Given the description of an element on the screen output the (x, y) to click on. 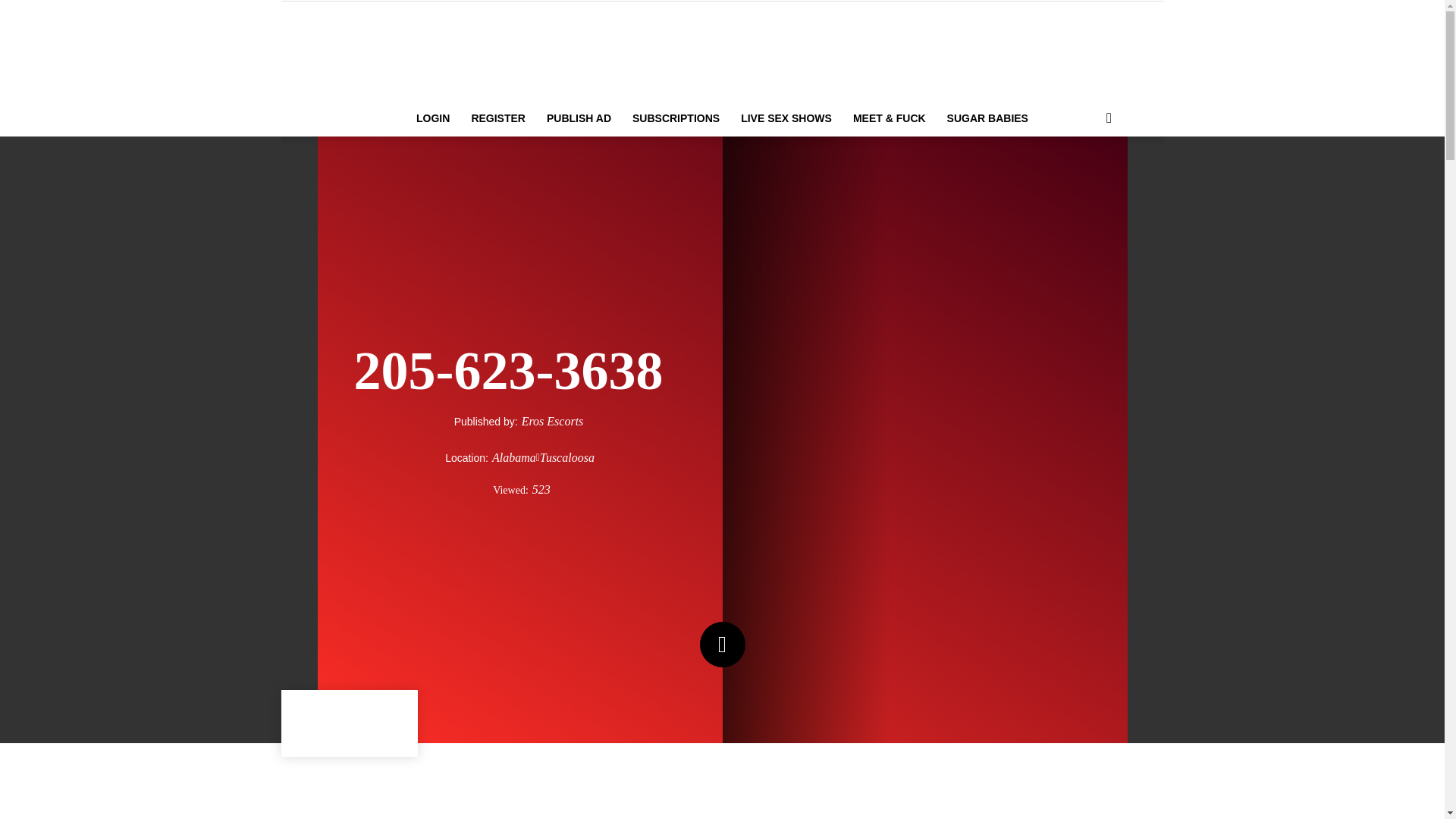
LIVE SEX SHOWS (786, 117)
Share article (377, 720)
SUBSCRIPTIONS (675, 117)
Alabama (513, 457)
PUBLISH AD (578, 117)
Eros Escorts (722, 51)
Eros Escorts (552, 421)
SUGAR BABIES (987, 117)
Tuscaloosa (567, 457)
REGISTER (497, 117)
Search (1085, 178)
LOGIN (433, 117)
